Given the description of an element on the screen output the (x, y) to click on. 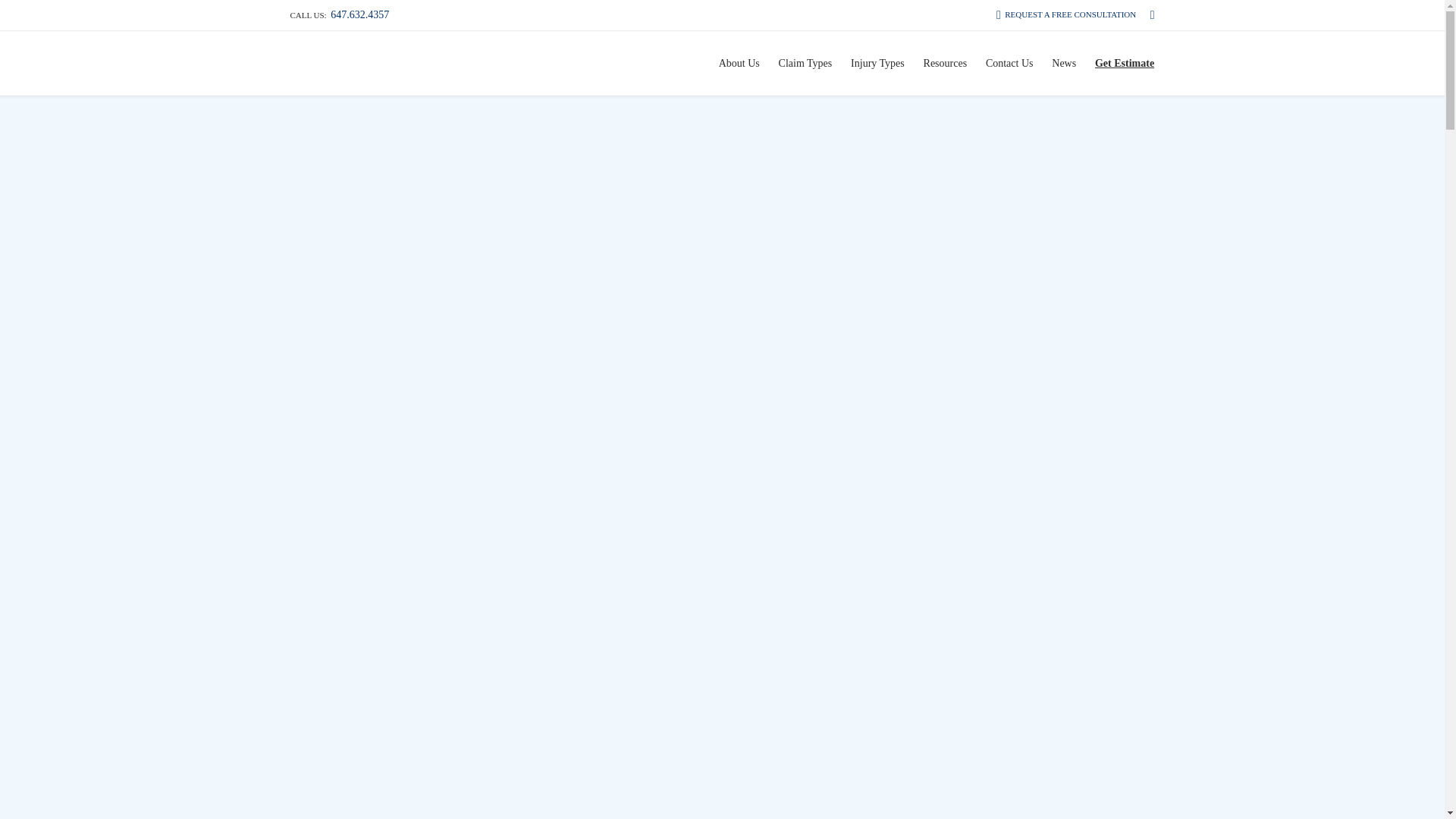
Get Estimate (1124, 63)
BOOK (780, 524)
About Us (738, 63)
Claim Types (804, 63)
Claim Accident Services (322, 63)
Resources (944, 63)
Injury Types (877, 63)
Contact Us (1009, 63)
News (1064, 63)
